Given the description of an element on the screen output the (x, y) to click on. 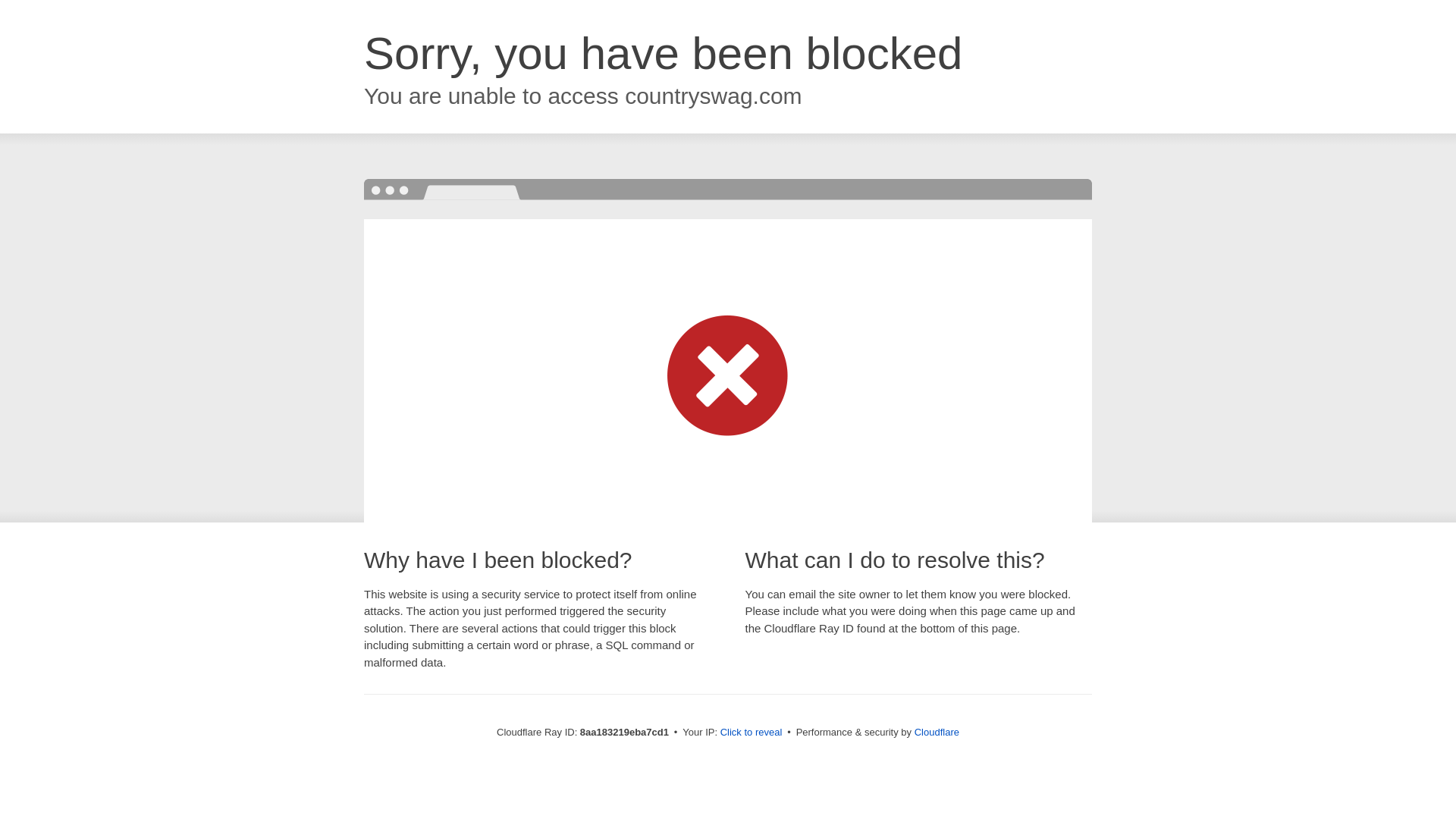
Click to reveal (751, 732)
Cloudflare (936, 731)
